Given the description of an element on the screen output the (x, y) to click on. 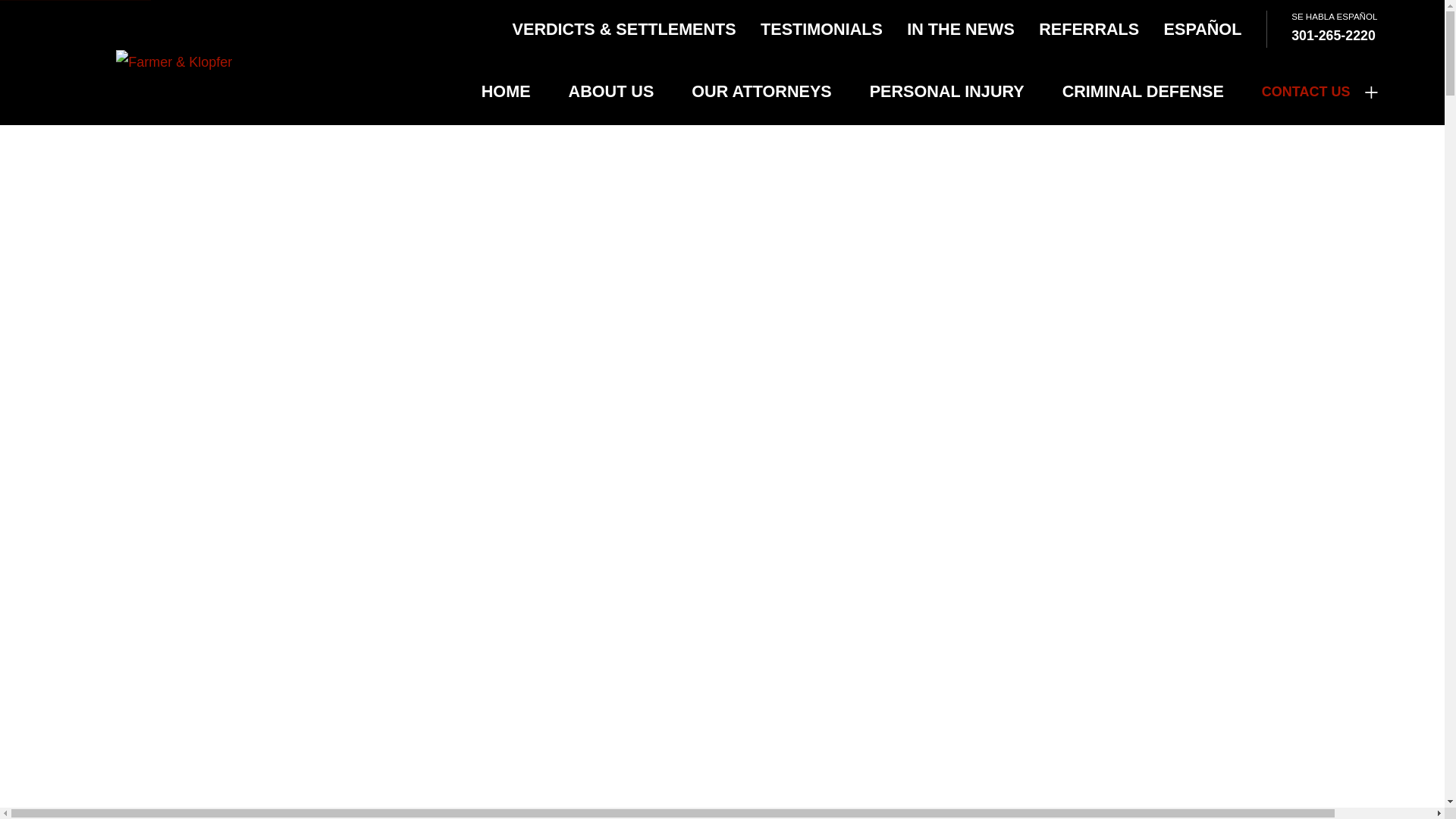
IN THE NEWS (960, 28)
Home (173, 61)
301-265-2220 (1333, 35)
HOME (506, 91)
PERSONAL INJURY (947, 91)
ABOUT US (611, 91)
TESTIMONIALS (821, 28)
REFERRALS (1088, 28)
OUR ATTORNEYS (761, 91)
